Given the description of an element on the screen output the (x, y) to click on. 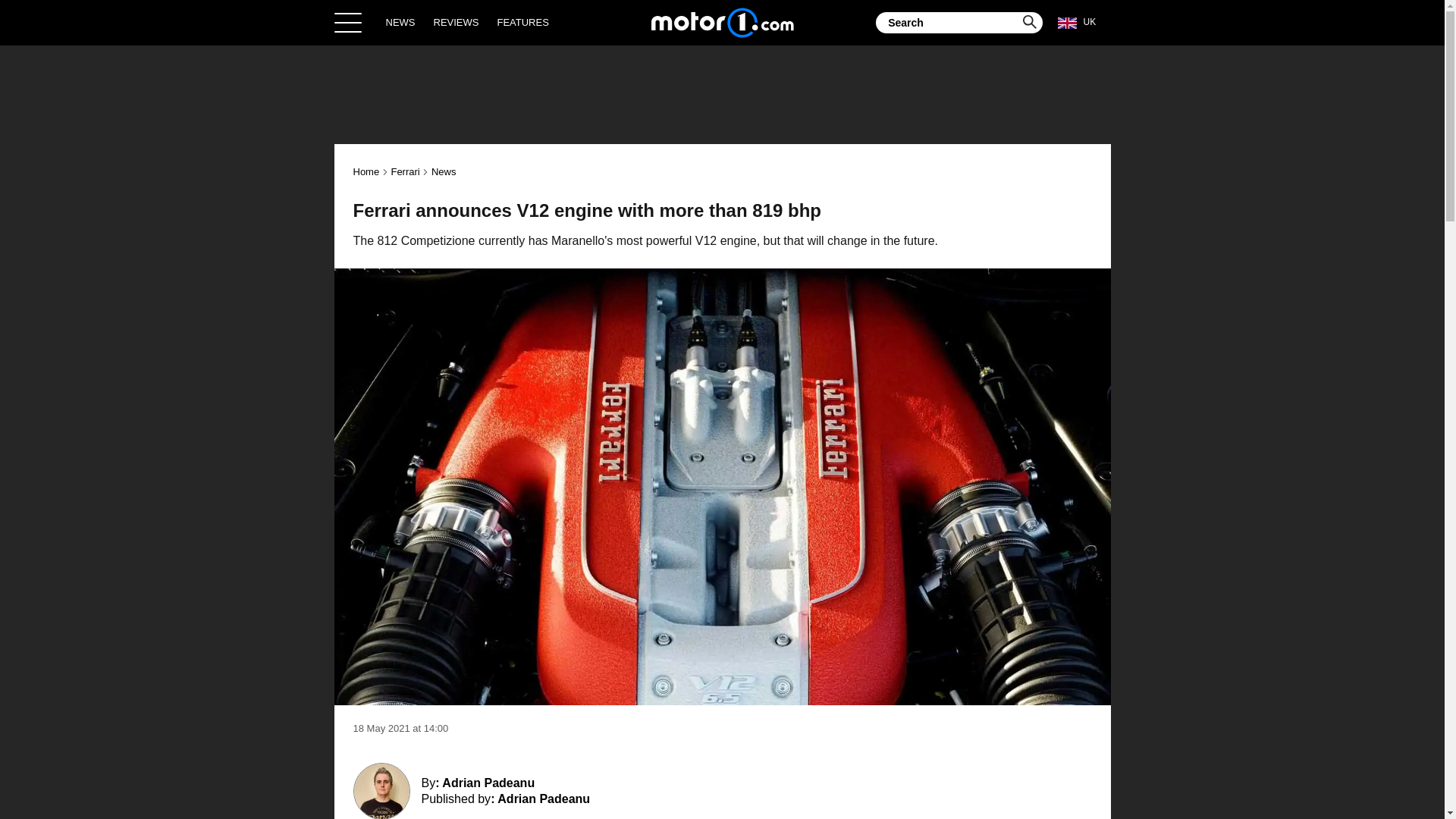
NEWS (399, 22)
News (443, 171)
Adrian Padeanu (543, 798)
Home (366, 171)
REVIEWS (456, 22)
Ferrari (404, 171)
FEATURES (522, 22)
Home (721, 22)
